Given the description of an element on the screen output the (x, y) to click on. 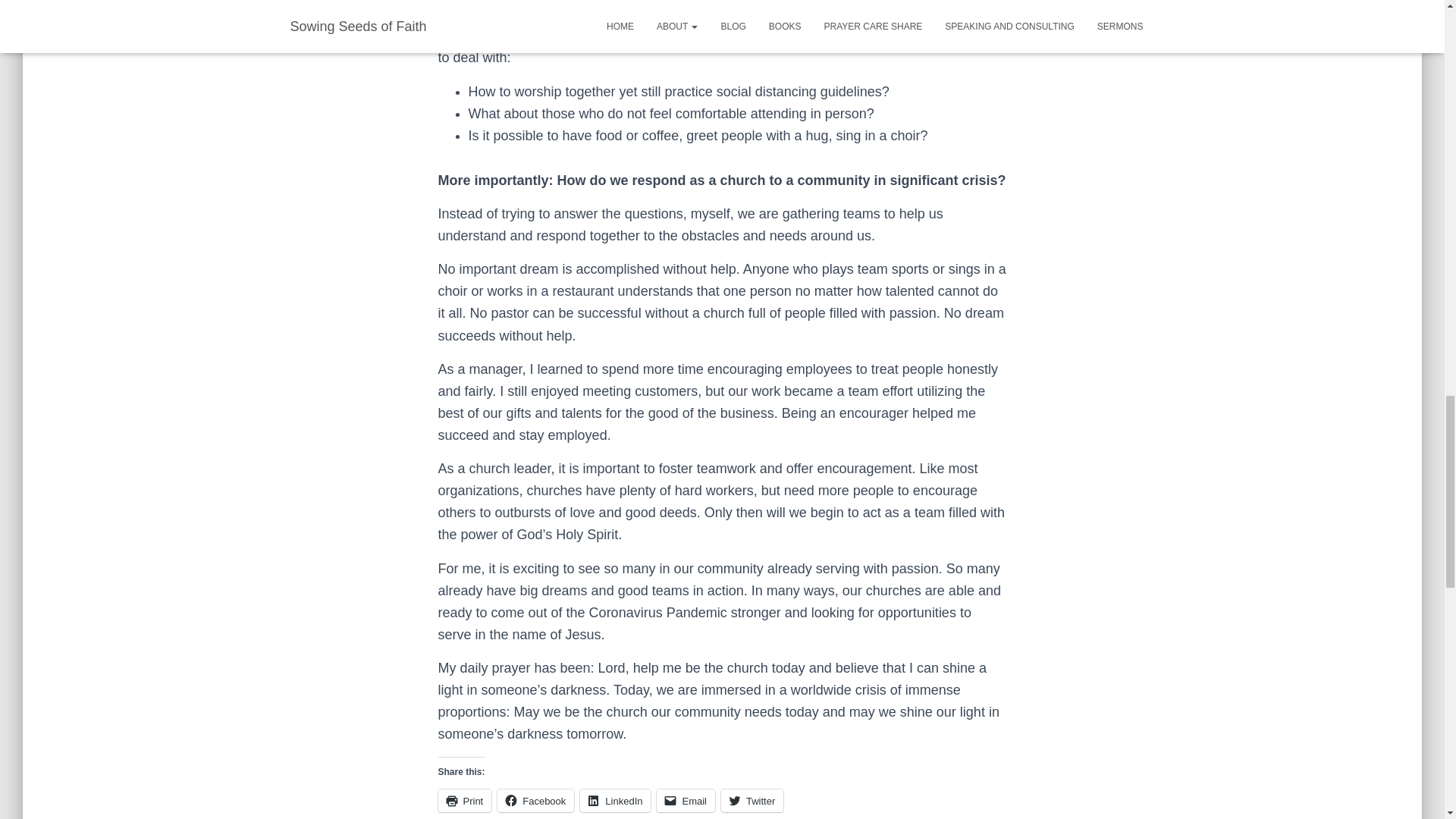
Email (685, 800)
Click to share on Facebook (535, 800)
Click to print (465, 800)
Facebook (535, 800)
Click to email a link to a friend (685, 800)
Click to share on Twitter (751, 800)
Click to share on LinkedIn (614, 800)
Print (465, 800)
Twitter (751, 800)
LinkedIn (614, 800)
